Given the description of an element on the screen output the (x, y) to click on. 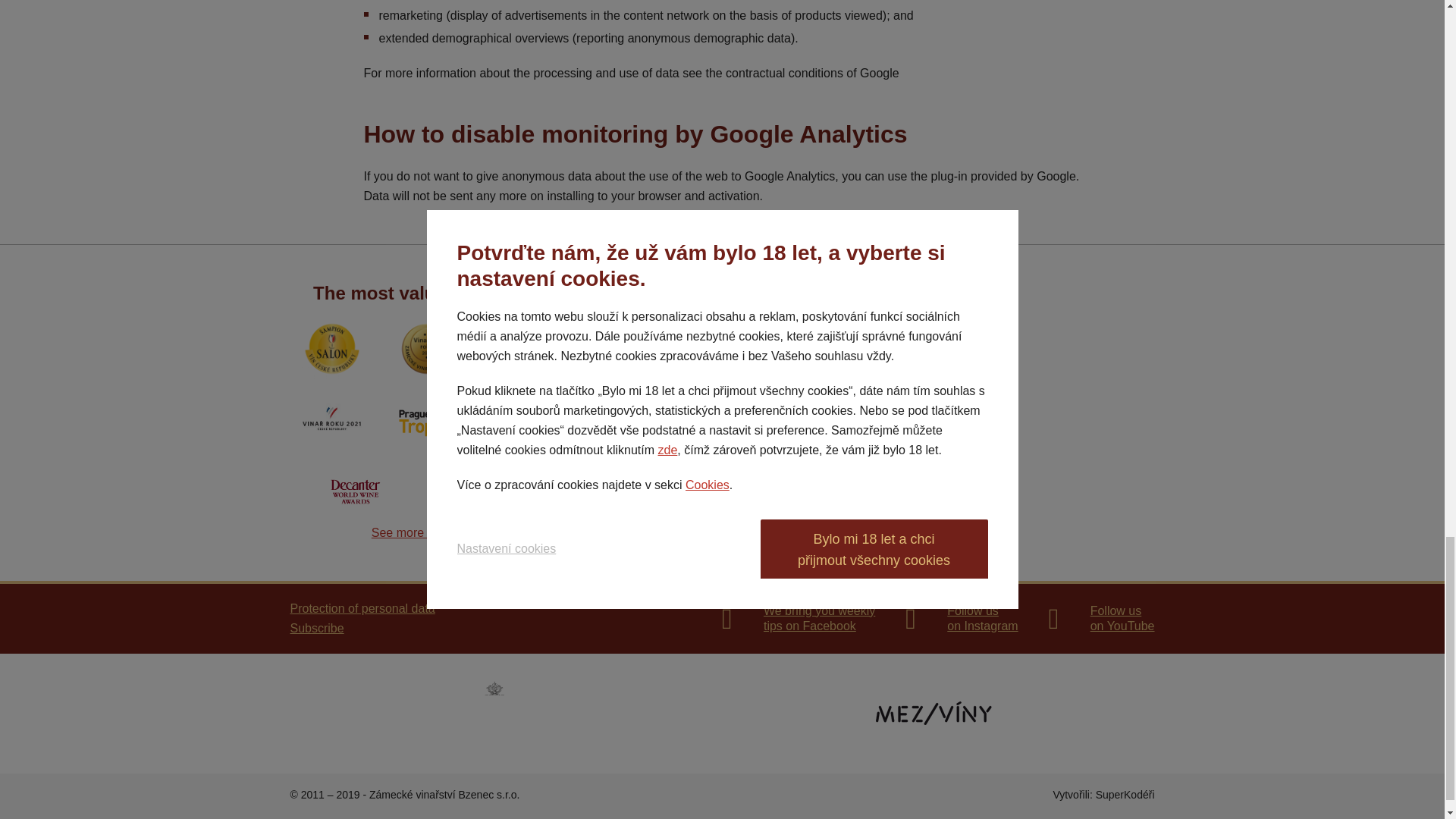
See more awards (961, 618)
Protection of personal data (1101, 618)
Subscribe (426, 532)
